Given the description of an element on the screen output the (x, y) to click on. 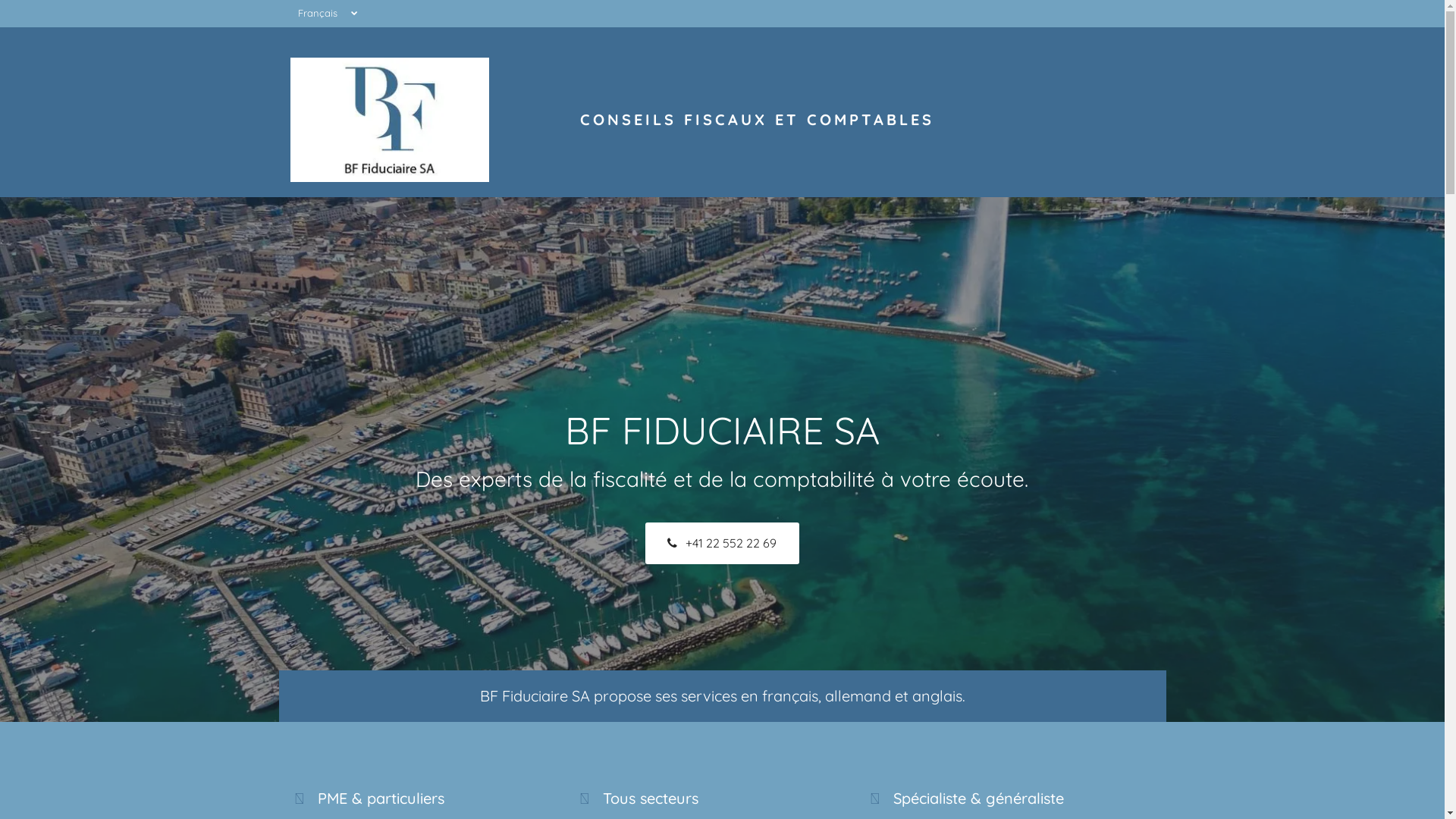
+41 22 552 22 69 Element type: text (722, 543)
CONSEILS FISCAUX ET COMPTABLES Element type: text (757, 118)
